Given the description of an element on the screen output the (x, y) to click on. 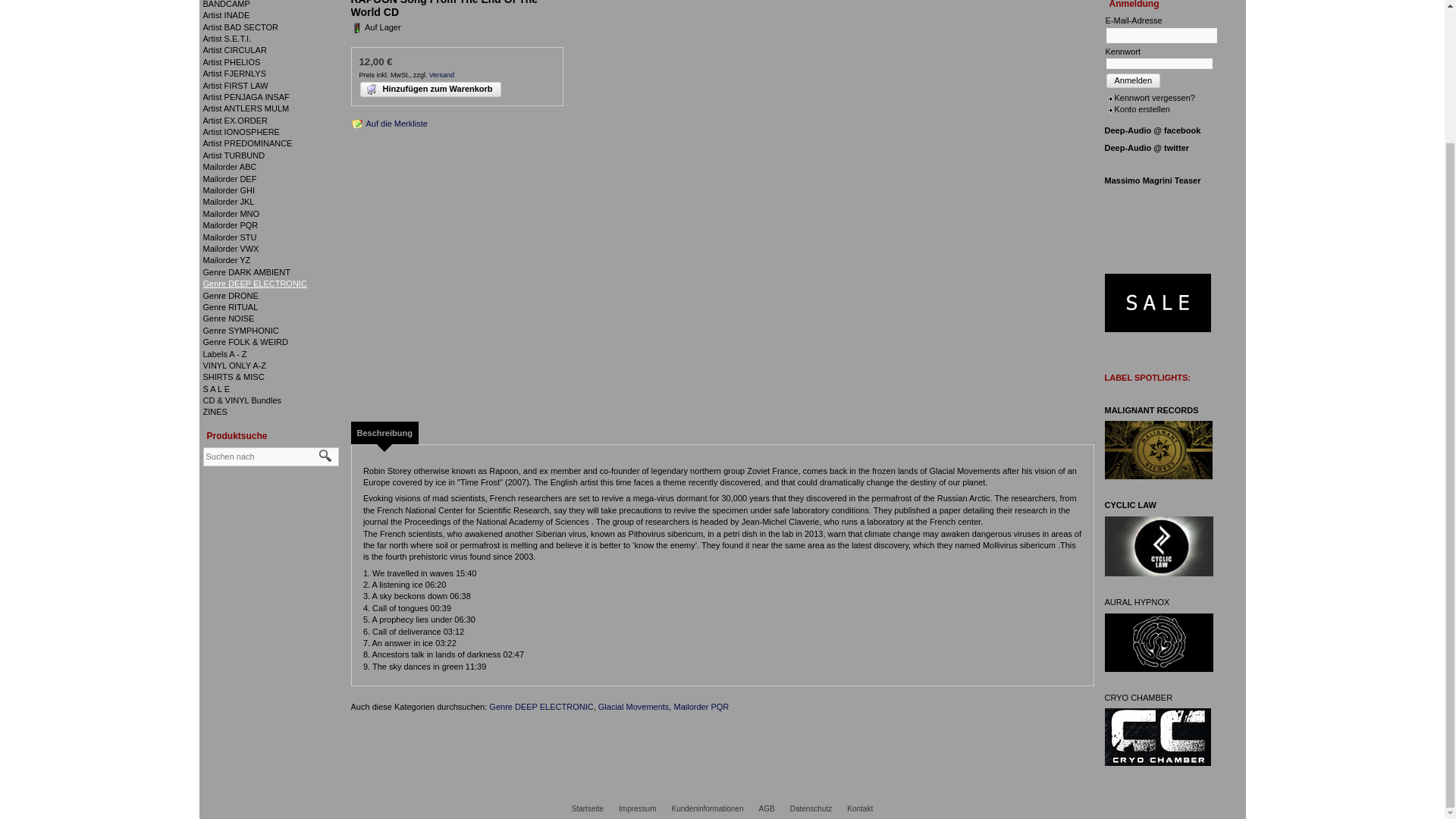
cryoshop (1156, 736)
Artist PREDOMINANCE (247, 143)
Genre NOISE (228, 317)
Mailorder MNO (231, 213)
Mailorder VWX (231, 248)
Mailorder YZ (226, 259)
Mailorder STU (230, 236)
Artist EX.ORDER (235, 120)
YouTube video player (1156, 219)
Artist BAD SECTOR (240, 26)
Genre DRONE (231, 295)
Artist TURBUND (233, 154)
Mailorder GHI (228, 189)
Mailorder ABC (230, 166)
Artist PHELIOS (231, 61)
